Given the description of an element on the screen output the (x, y) to click on. 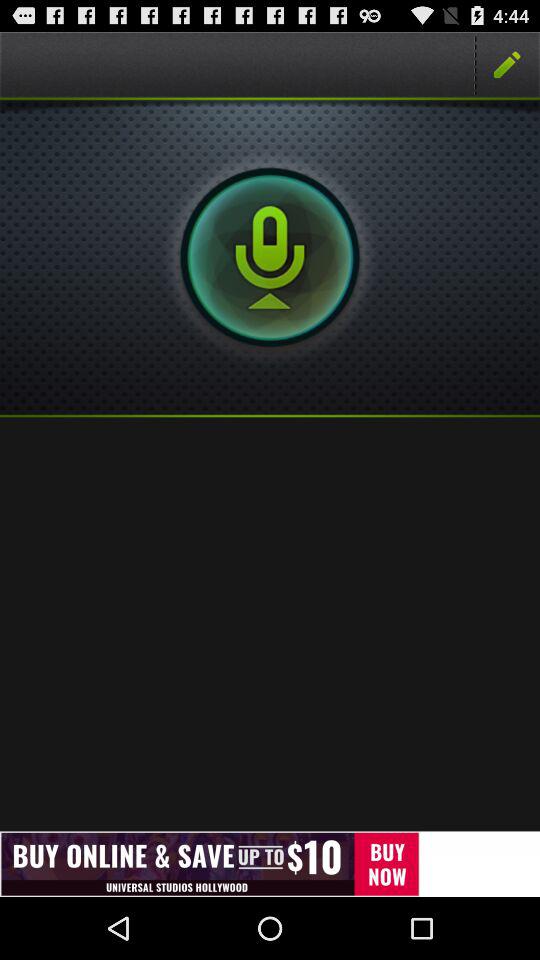
launch item at the bottom (270, 863)
